Given the description of an element on the screen output the (x, y) to click on. 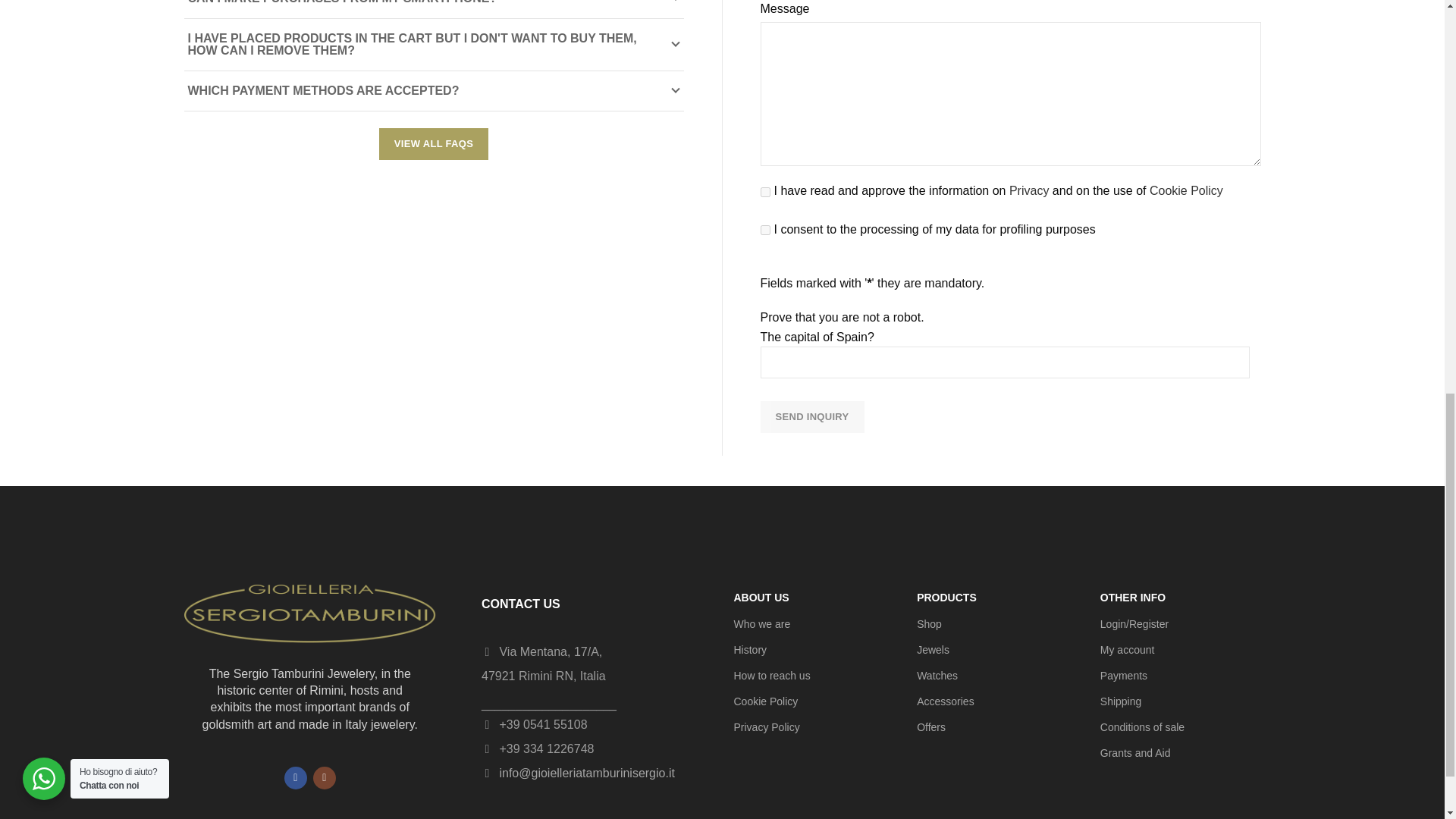
1 (765, 230)
Privacy Policy (814, 727)
Send inquiry (811, 417)
1 (765, 192)
Contatti (814, 675)
